Given the description of an element on the screen output the (x, y) to click on. 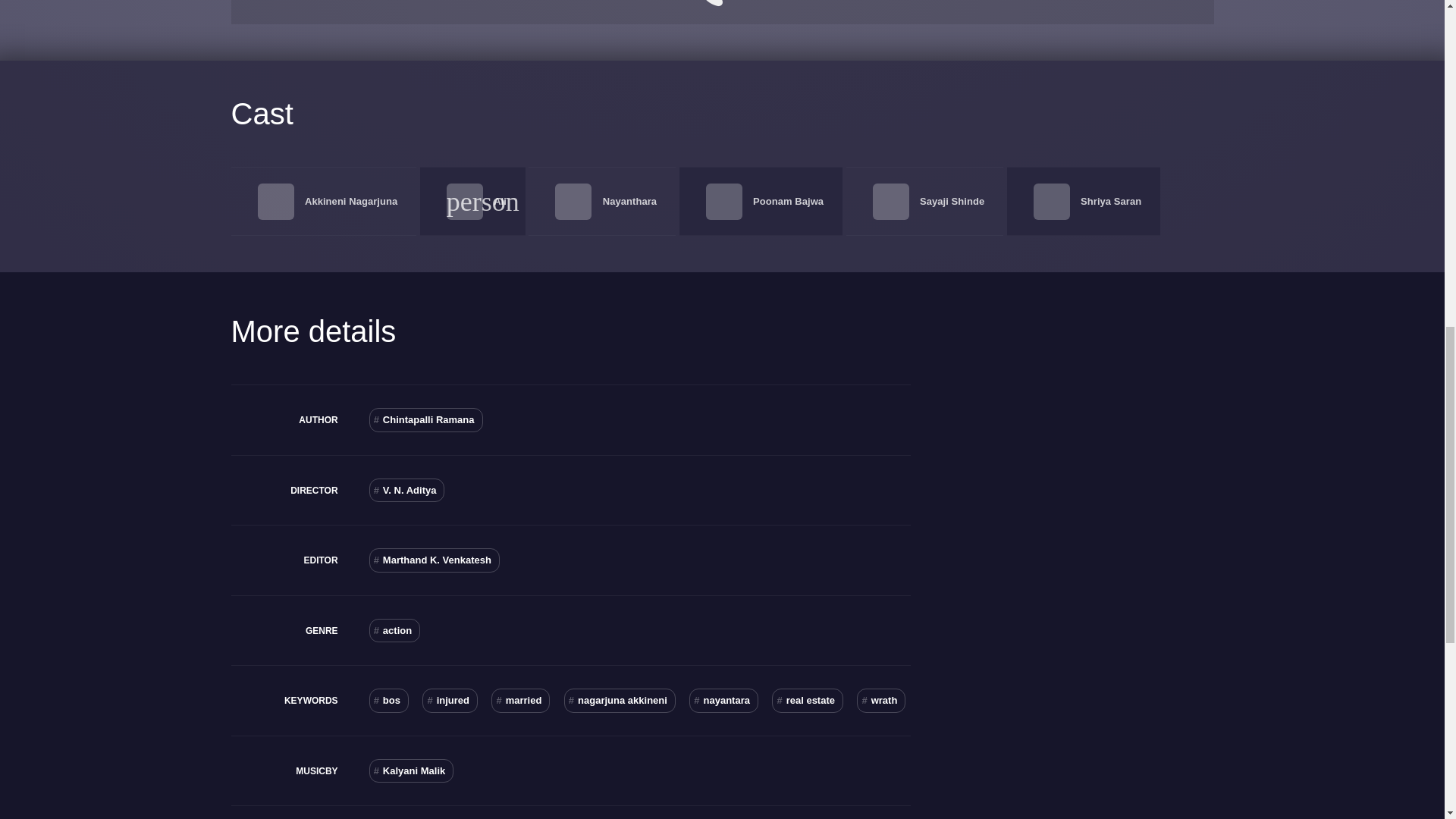
real estate (807, 700)
Ali (499, 201)
nayantara (723, 700)
bos (389, 700)
nagarjuna akkineni (619, 700)
Marthand K. Venkatesh (434, 559)
Poonam Bajwa (788, 201)
Kalyani Malik (411, 770)
married (521, 700)
Sayaji Shinde (952, 201)
